Given the description of an element on the screen output the (x, y) to click on. 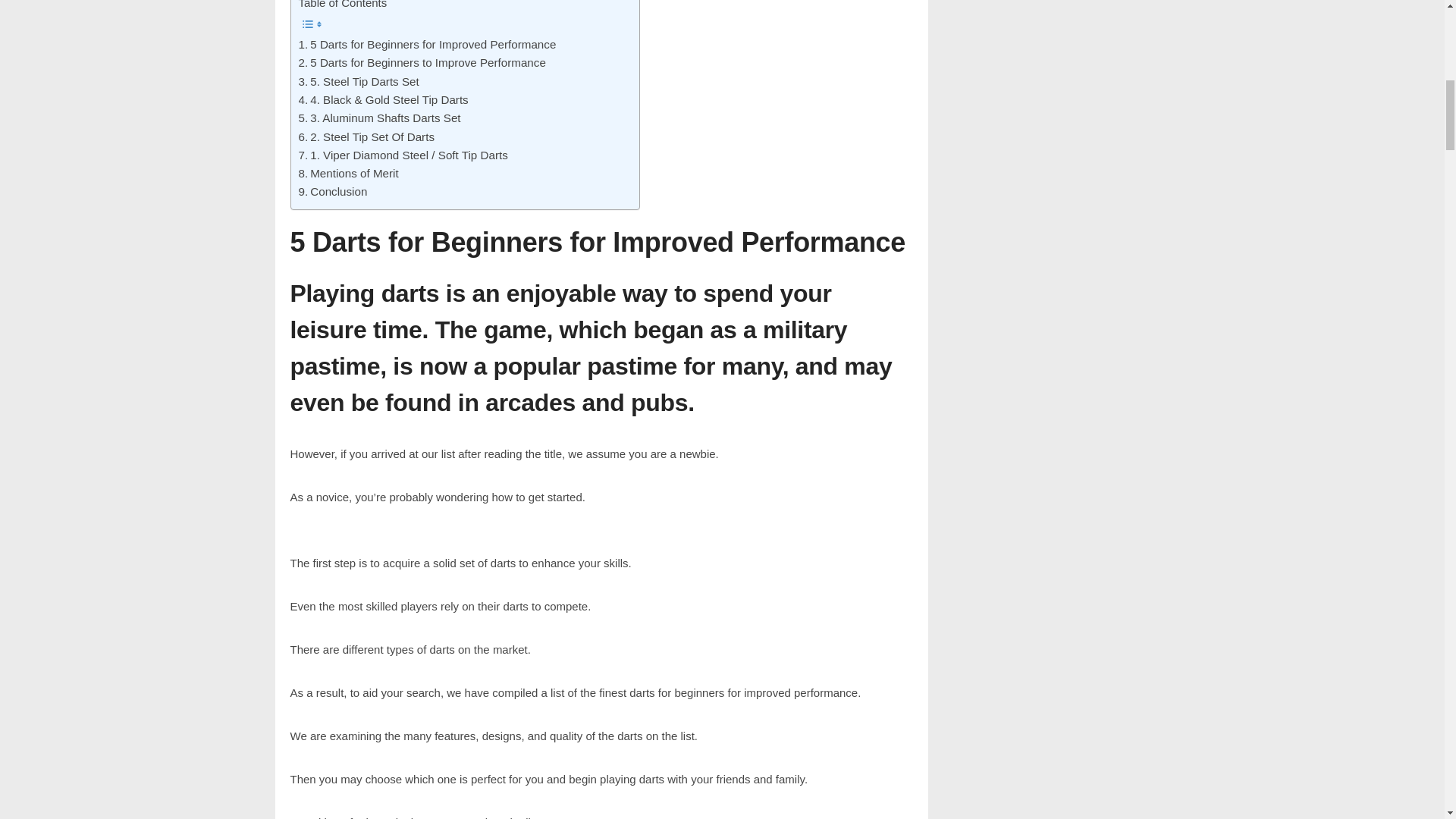
Conclusion (333, 191)
5 Darts for Beginners to Improve Performance (422, 63)
Mentions of Merit (348, 173)
Mentions of Merit (348, 173)
5 Darts for Beginners for Improved Performance (427, 45)
2. Steel Tip Set Of Darts (365, 136)
3. Aluminum Shafts Darts Set (379, 117)
2. Steel Tip Set Of Darts (365, 136)
5 Darts for Beginners for Improved Performance (427, 45)
